Given the description of an element on the screen output the (x, y) to click on. 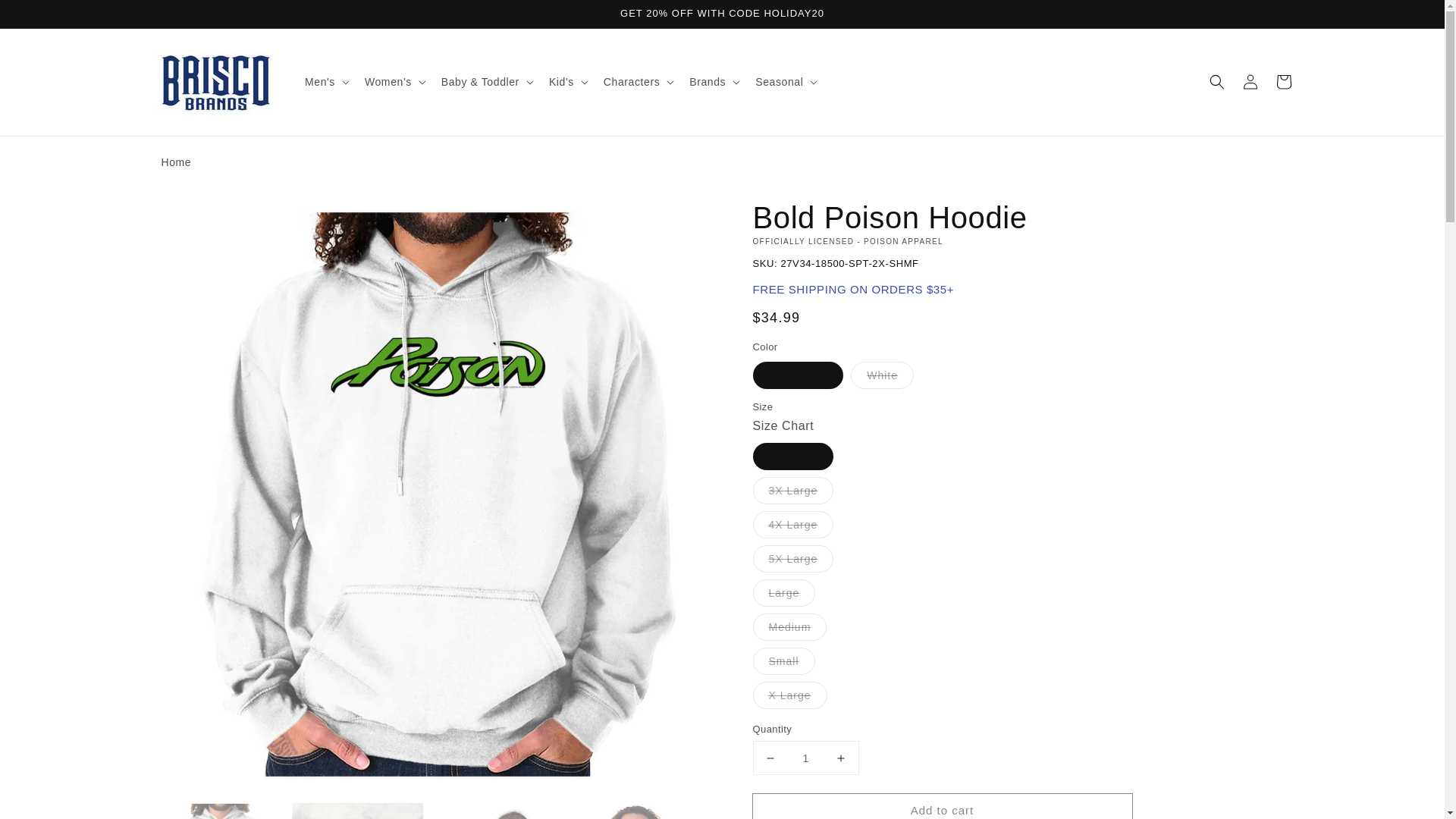
1 (805, 757)
Skip to content (45, 16)
